Given the description of an element on the screen output the (x, y) to click on. 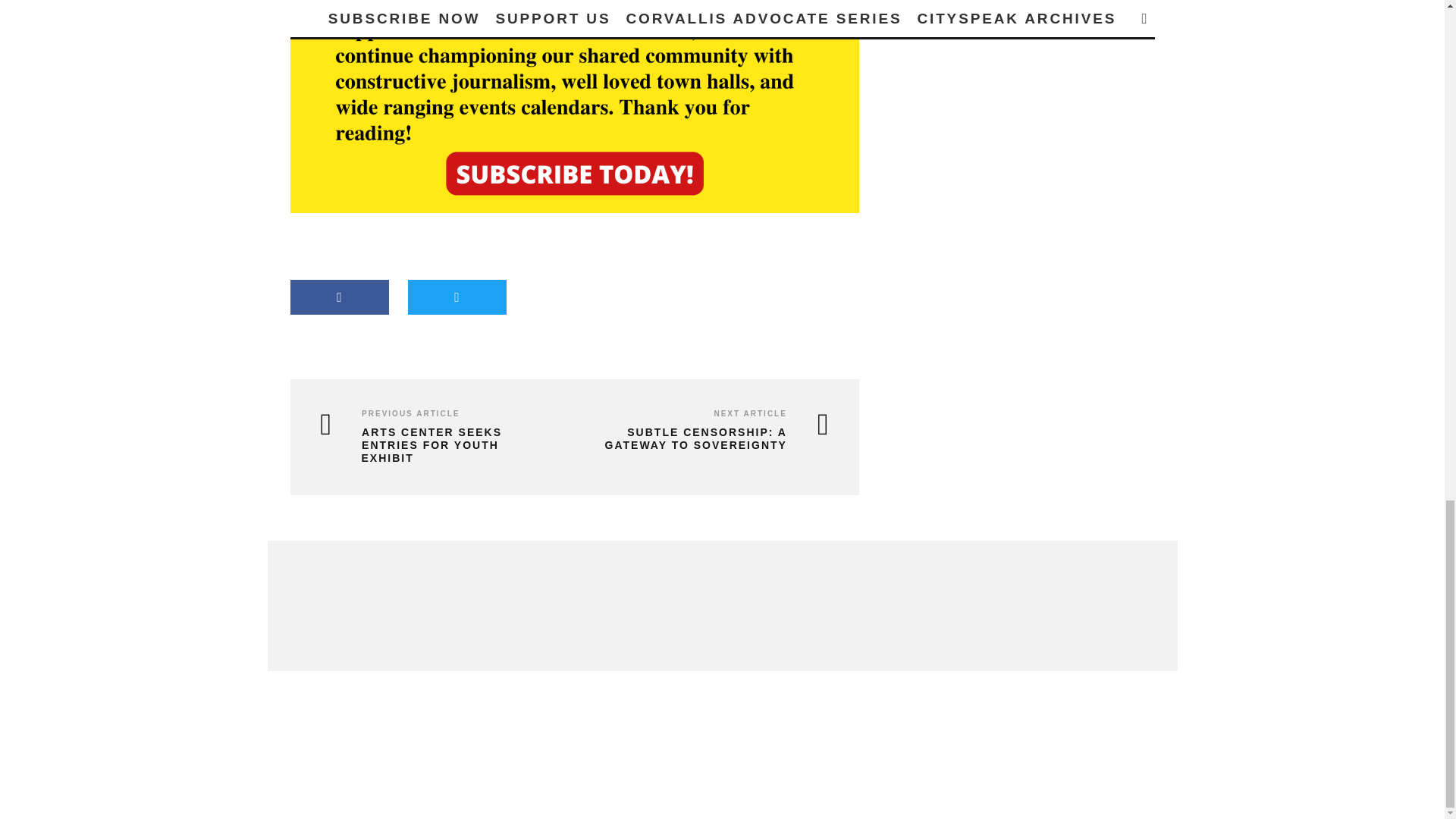
PREVIOUS ARTICLE (410, 413)
NEXT ARTICLE (749, 413)
SUBTLE CENSORSHIP: A GATEWAY TO SOVEREIGNTY (705, 438)
ARTS CENTER SEEKS ENTRIES FOR YOUTH EXHIBIT (435, 444)
